Given the description of an element on the screen output the (x, y) to click on. 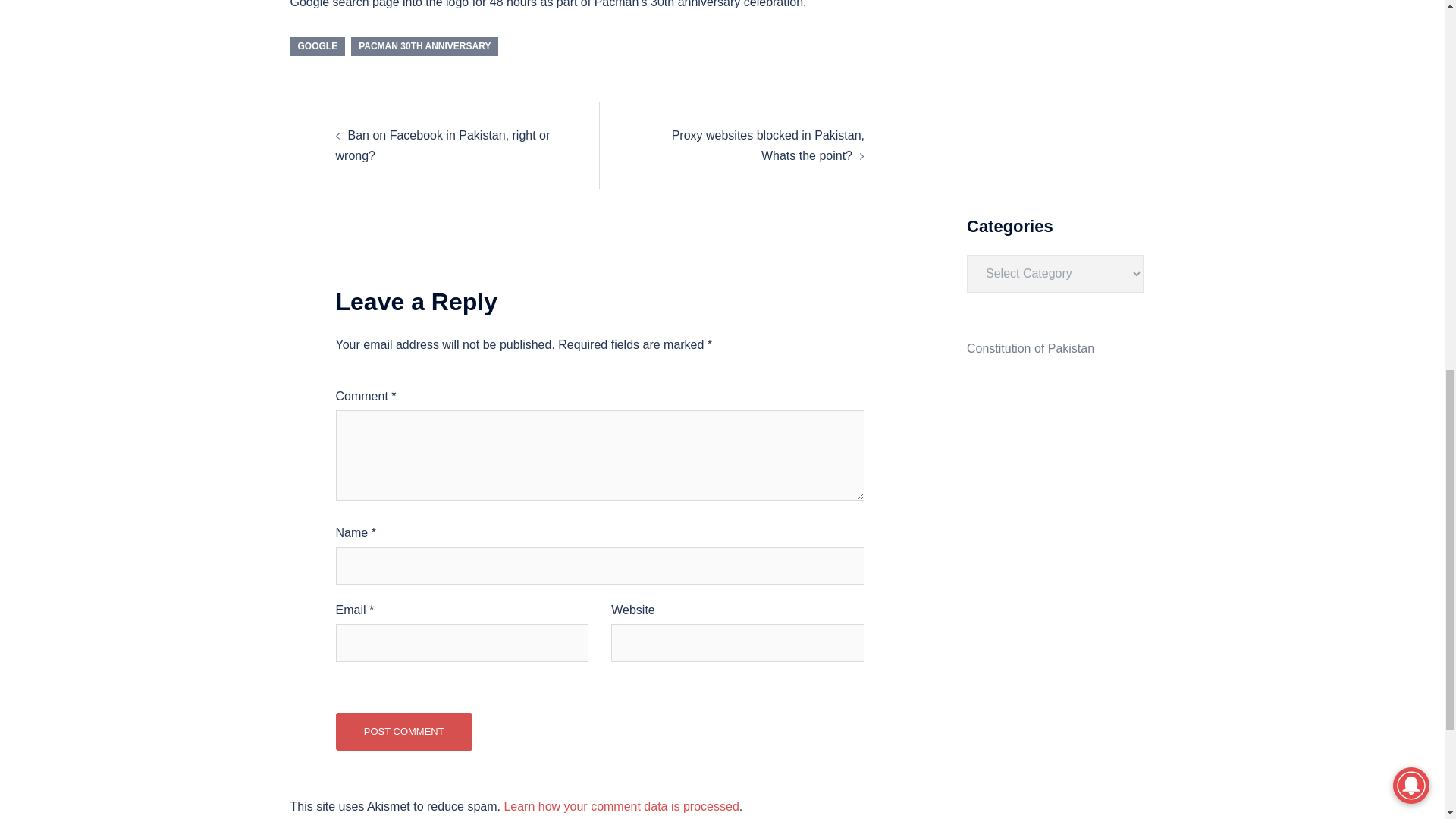
Constitution of Pakistan (1030, 348)
Learn how your comment data is processed (620, 806)
GOOGLE (317, 45)
PACMAN 30TH ANNIVERSARY (423, 45)
Ban on Facebook in Pakistan, right or wrong? (442, 145)
Post Comment (402, 731)
Proxy websites blocked in Pakistan, Whats the point? (767, 145)
Post Comment (402, 731)
Advertisement (1054, 85)
